Given the description of an element on the screen output the (x, y) to click on. 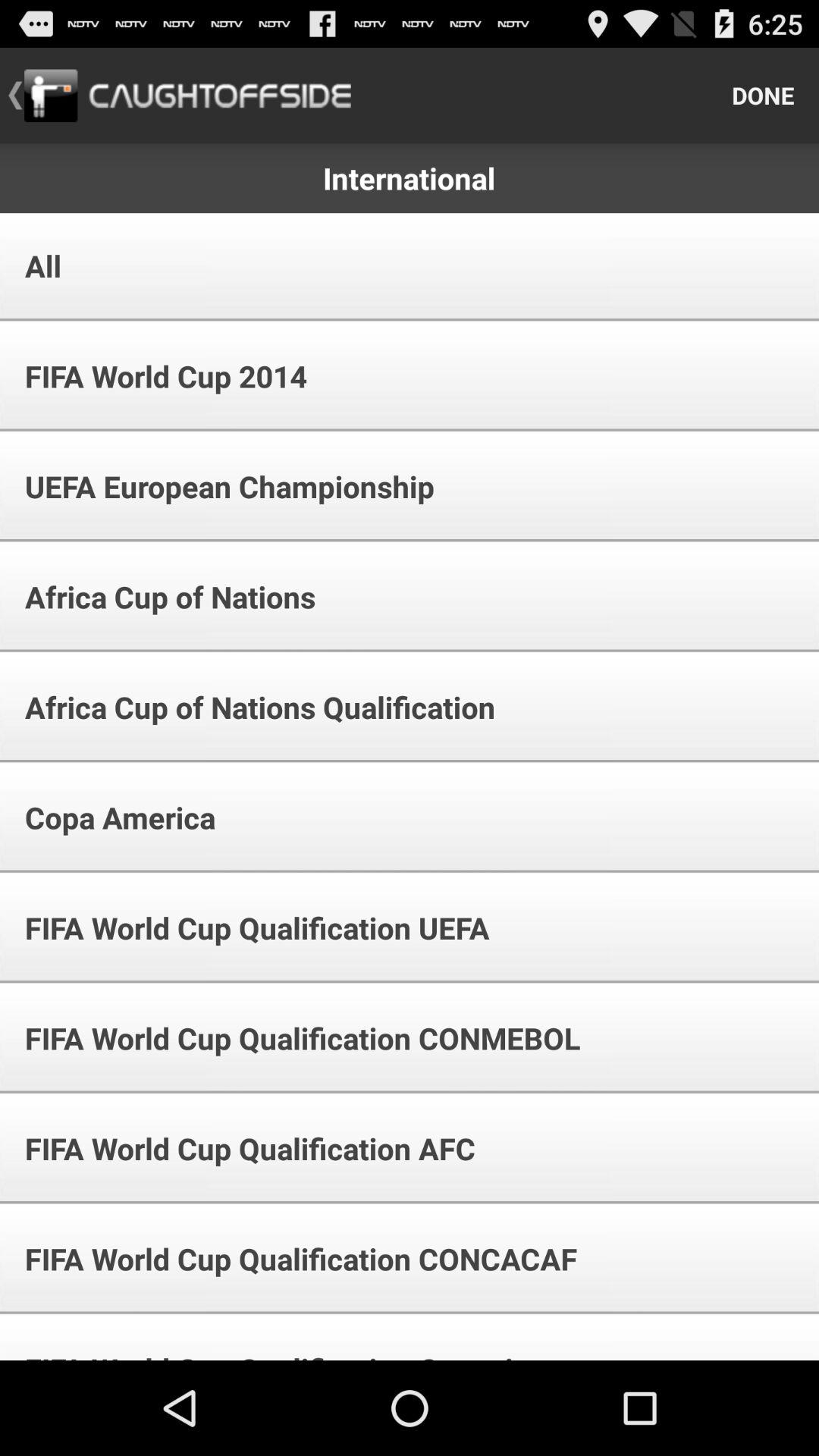
flip until the done item (763, 95)
